Given the description of an element on the screen output the (x, y) to click on. 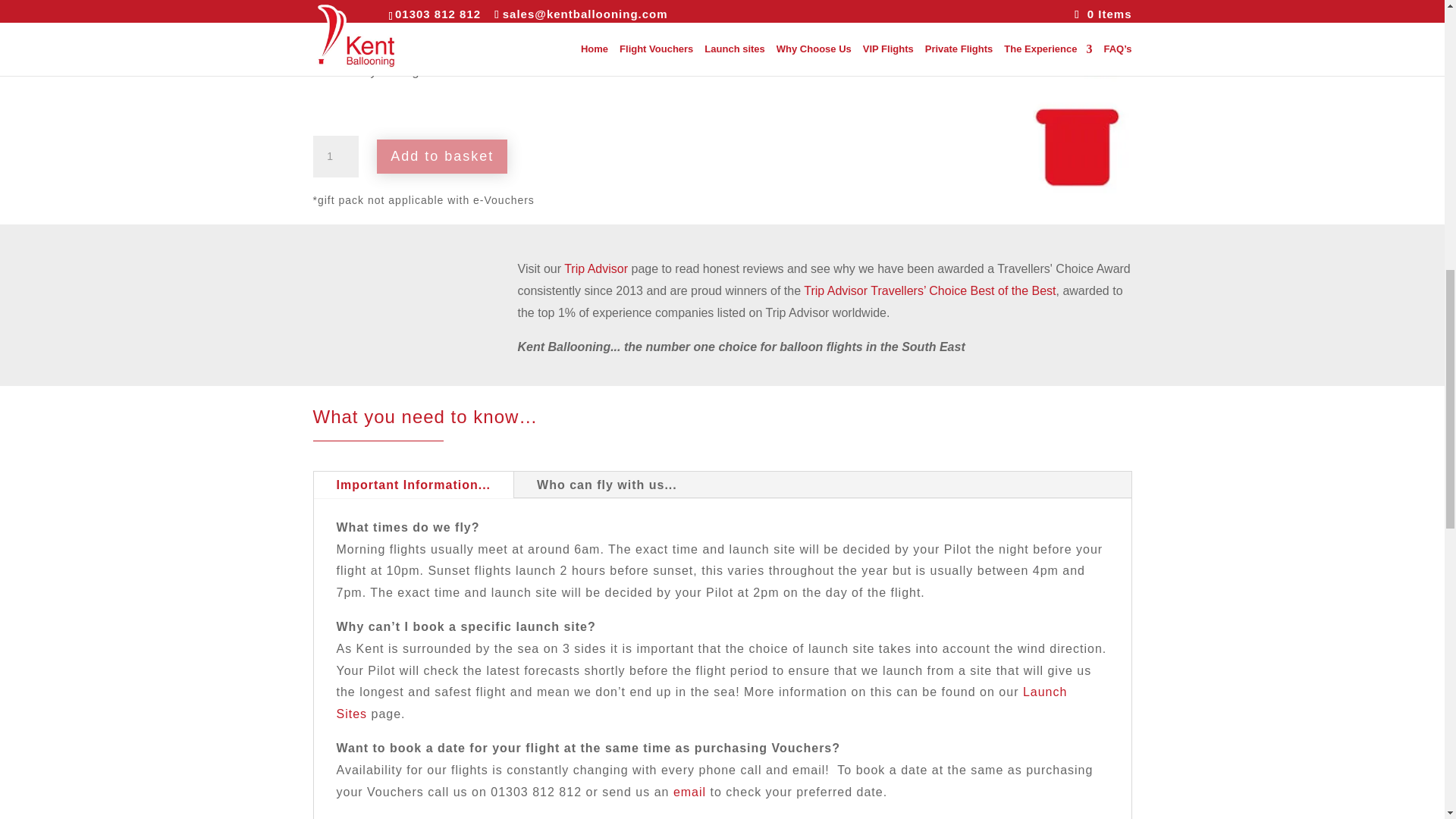
Launch Sites (701, 702)
Who can fly with us... (606, 484)
Trip Advisor (595, 268)
1 (335, 156)
Important Information... (413, 484)
Add to basket (441, 156)
email (689, 791)
